Given the description of an element on the screen output the (x, y) to click on. 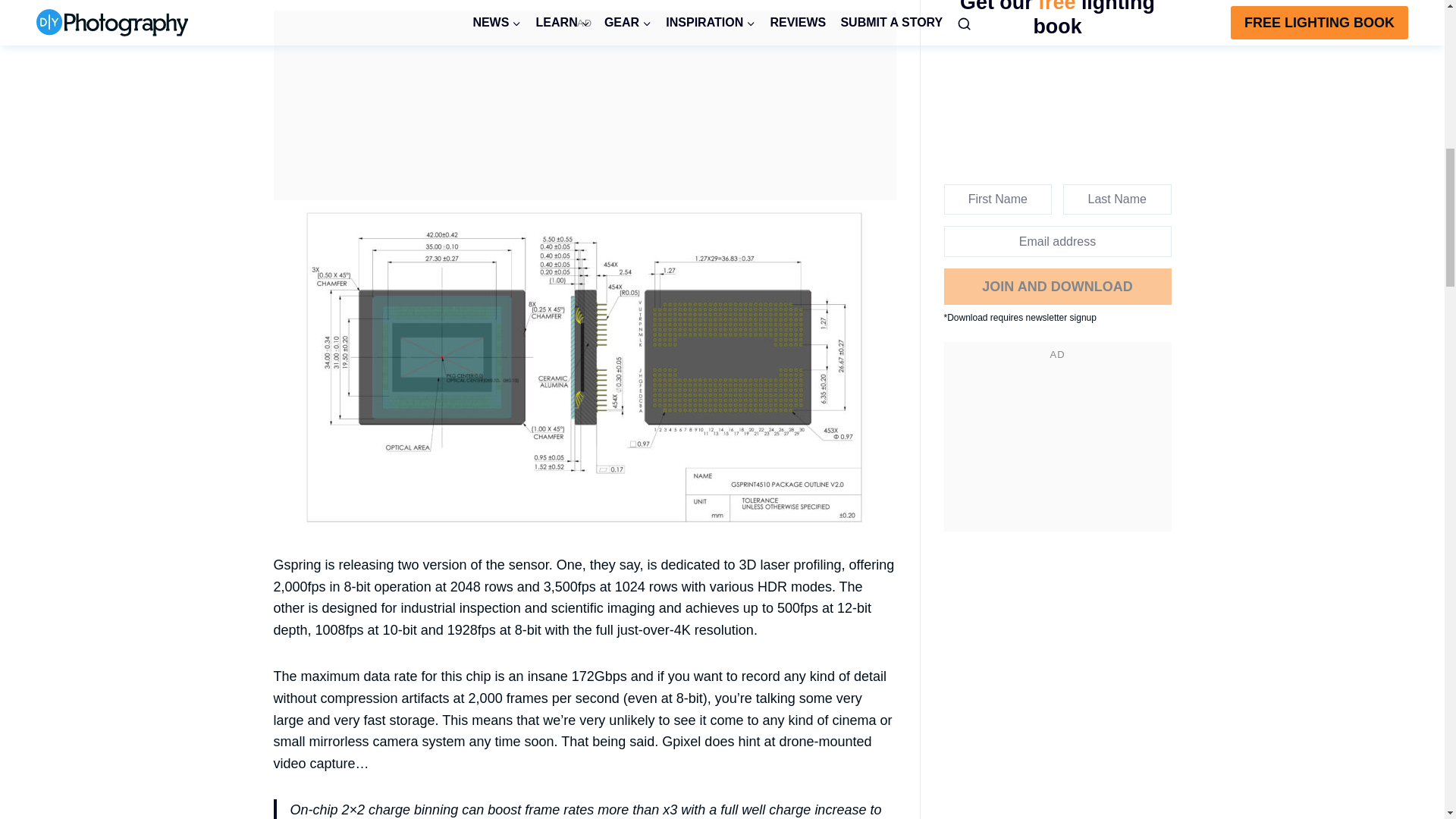
Join and Download (1056, 286)
